Given the description of an element on the screen output the (x, y) to click on. 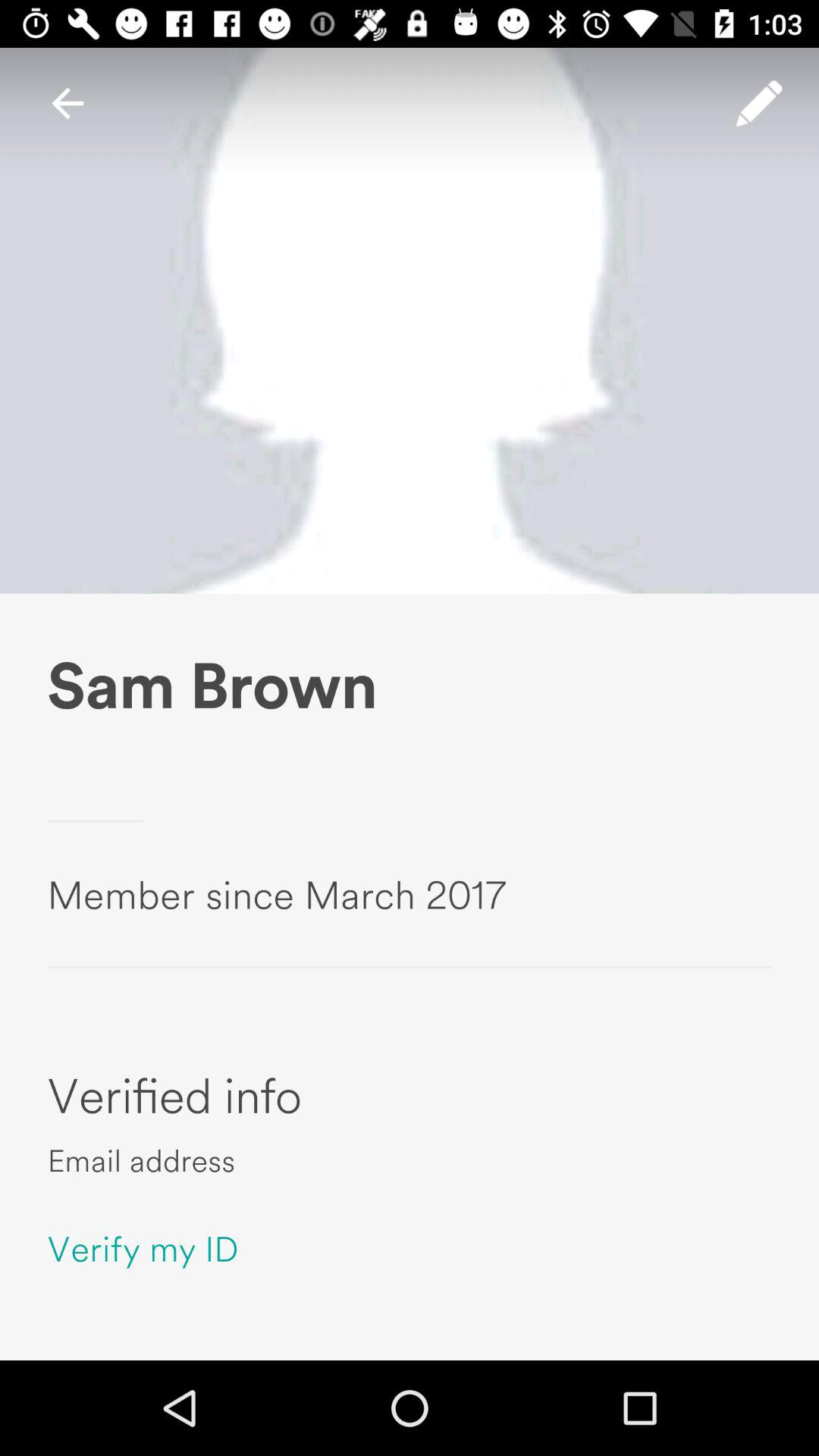
tap icon at the top right corner (759, 103)
